Given the description of an element on the screen output the (x, y) to click on. 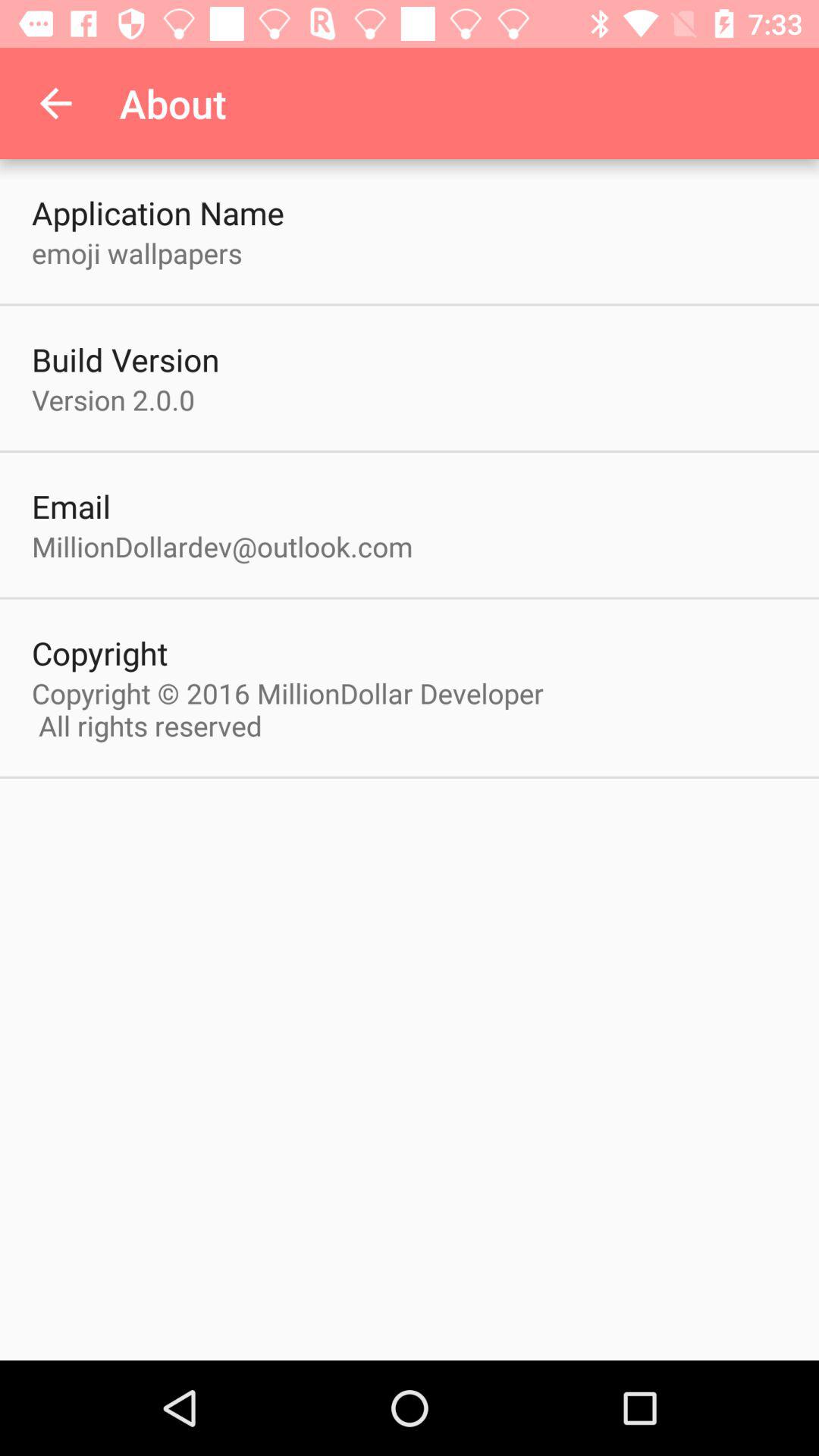
click item below email icon (221, 546)
